Given the description of an element on the screen output the (x, y) to click on. 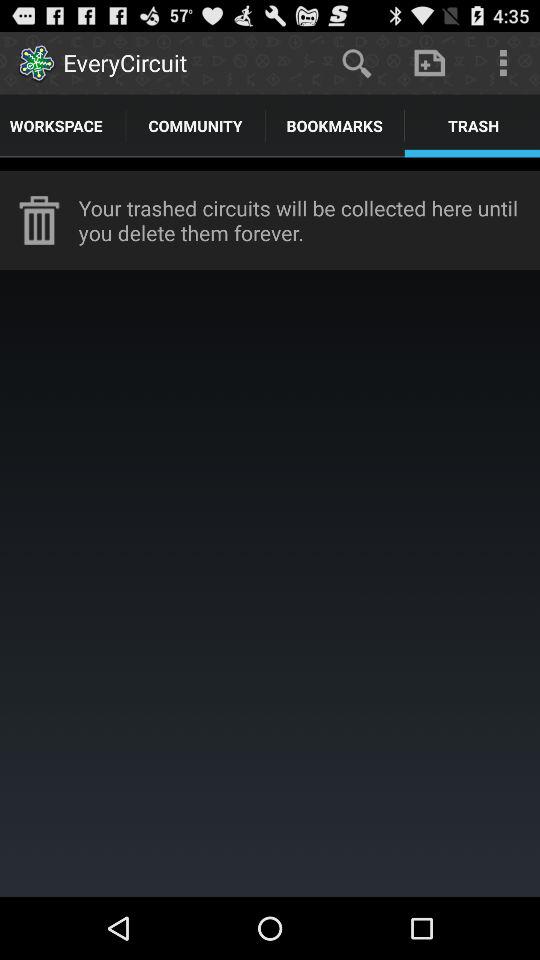
open item next to the everycircuit app (356, 62)
